Given the description of an element on the screen output the (x, y) to click on. 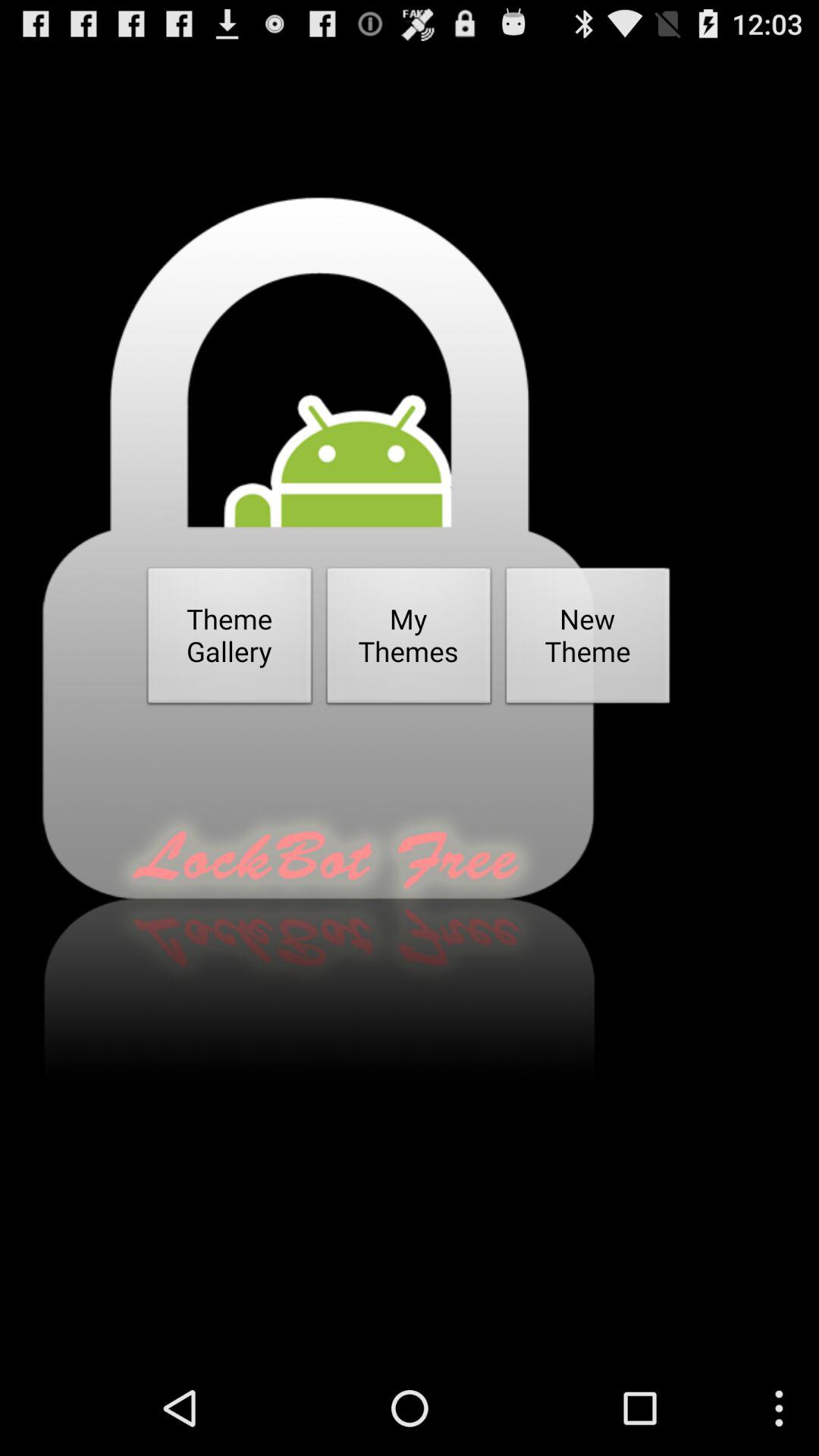
click the item to the left of the new theme icon (408, 639)
